Given the description of an element on the screen output the (x, y) to click on. 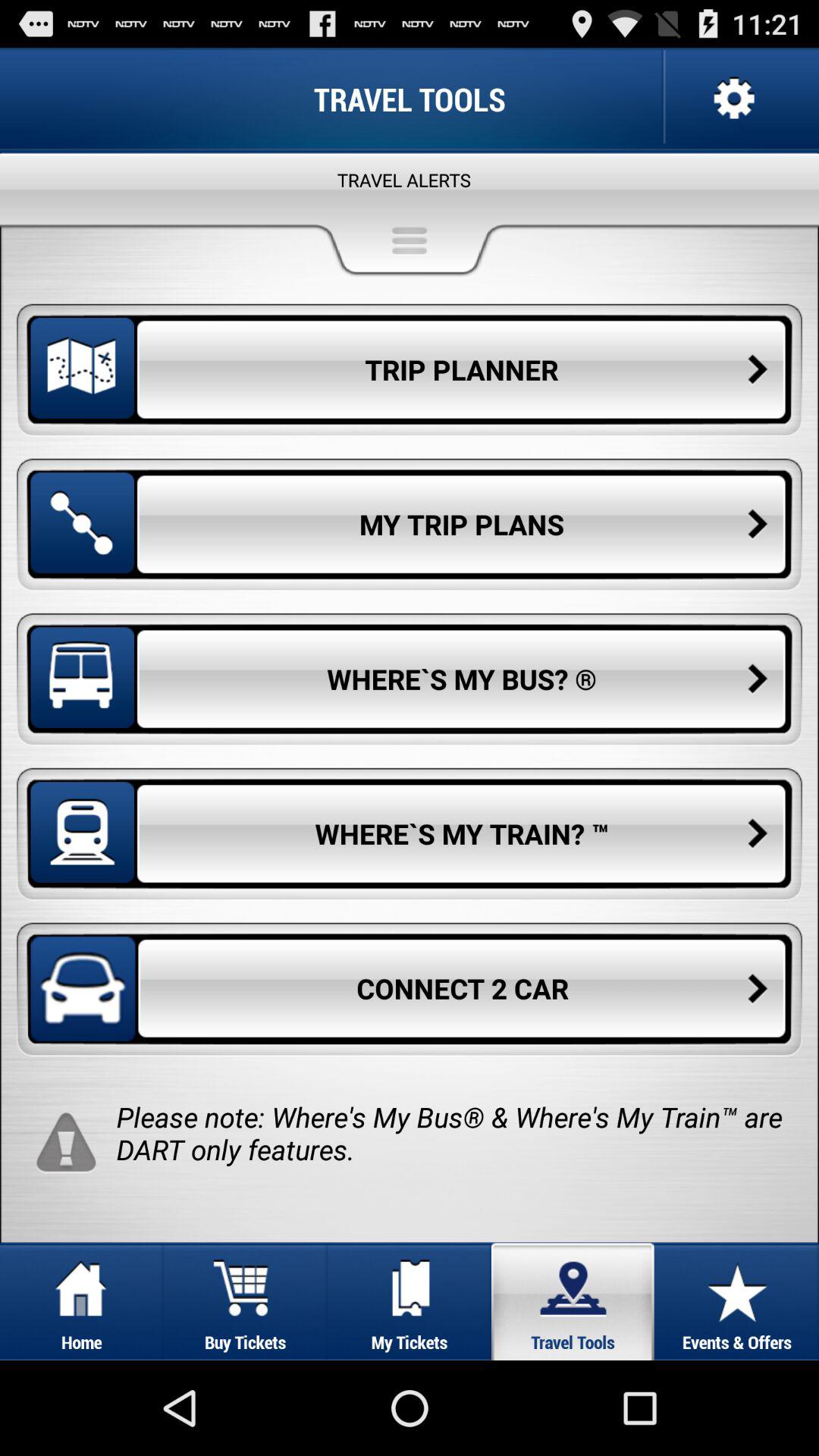
opens options menu (732, 99)
